Given the description of an element on the screen output the (x, y) to click on. 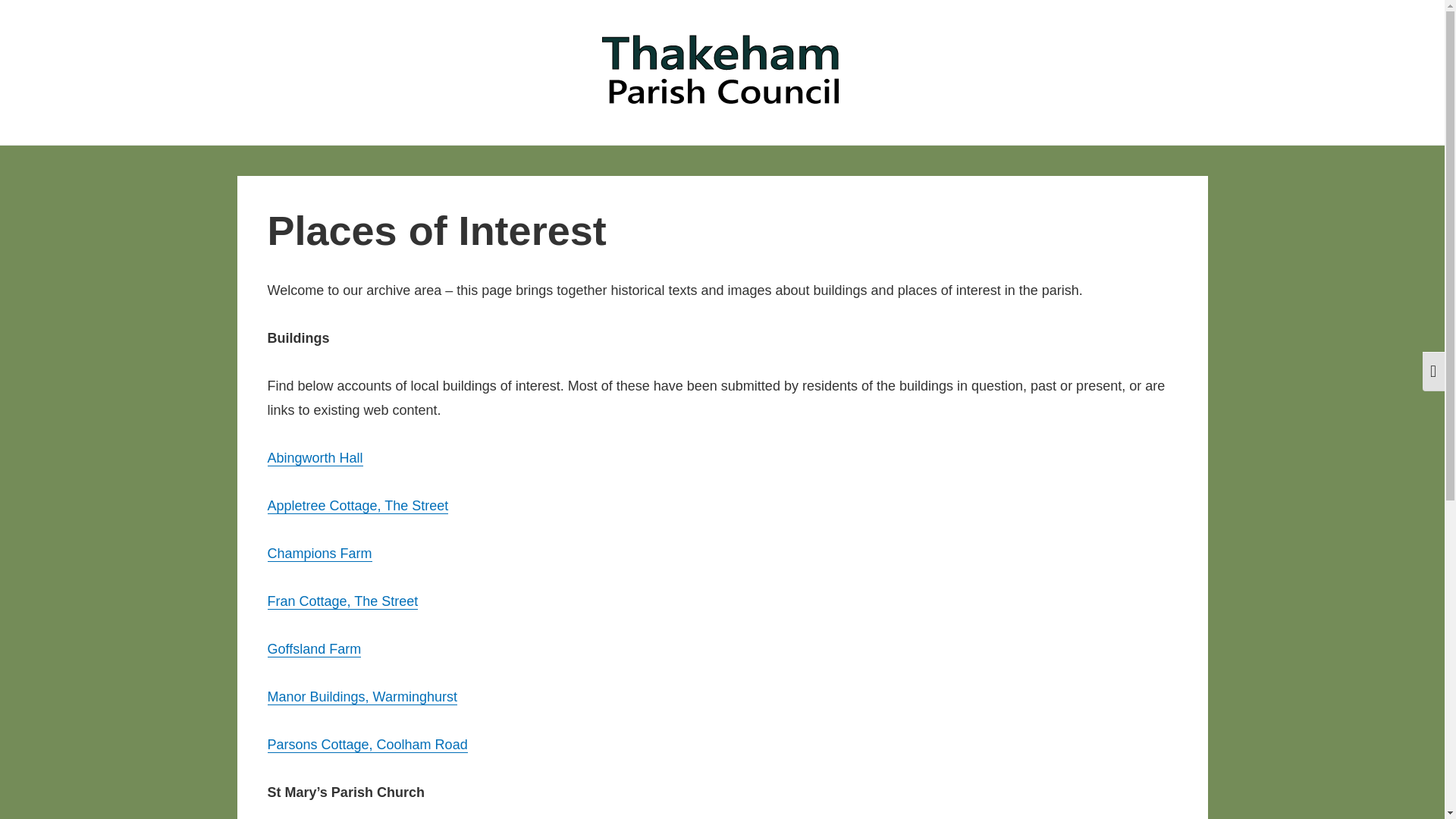
Abingworth Hall (314, 458)
Thakeham Parish Council (432, 130)
Parsons Cottage, Coolham Road (366, 744)
Fran Cottage, The Street (341, 601)
Appletree Cottage, The Street (357, 505)
Manor Buildings, Warminghurst (361, 696)
Goffsland Farm (313, 648)
Champions Farm (318, 553)
